Given the description of an element on the screen output the (x, y) to click on. 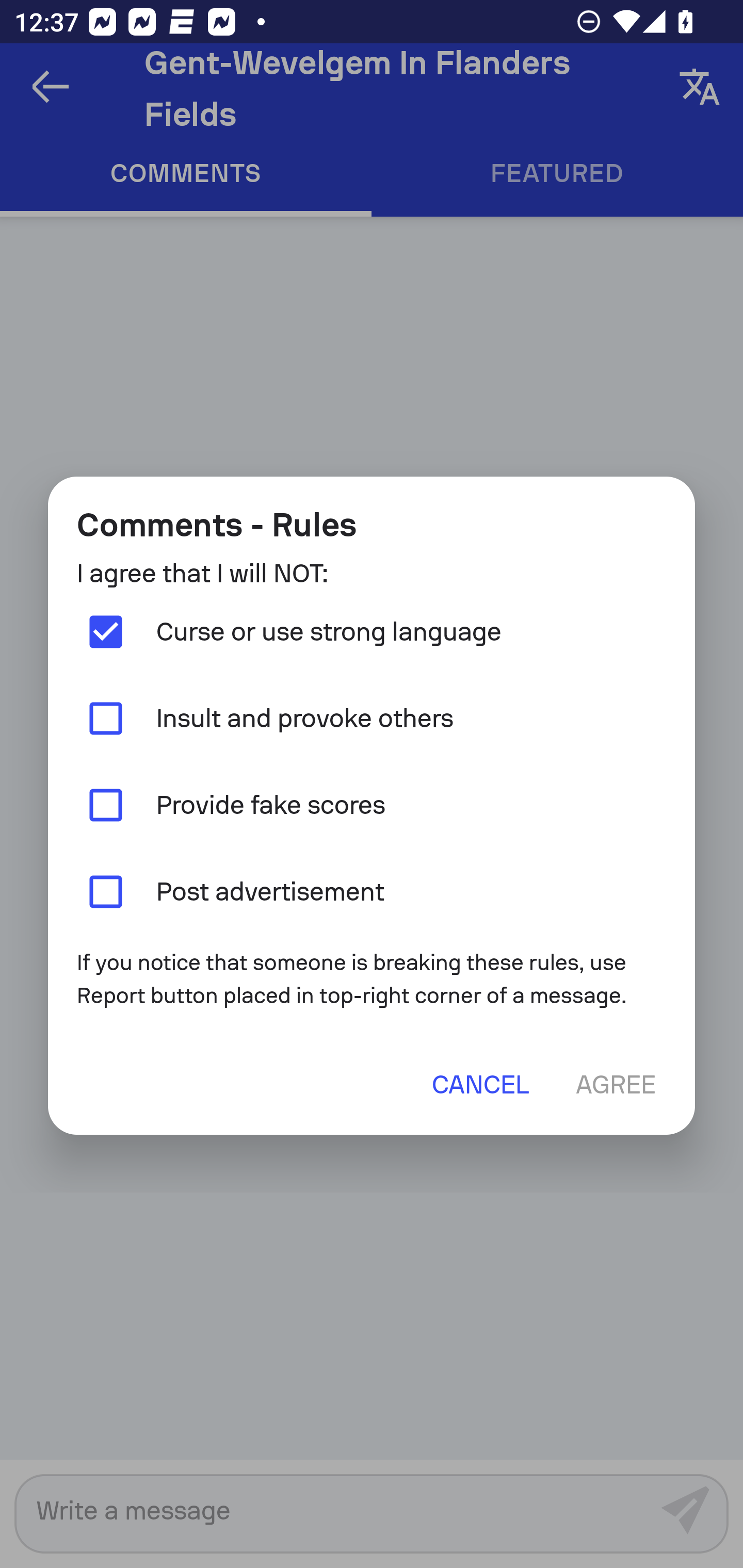
Curse or use strong language (371, 631)
Insult and provoke others (371, 718)
Provide fake scores (371, 805)
Post advertisement (371, 891)
CANCEL (479, 1084)
AGREE (615, 1084)
